Given the description of an element on the screen output the (x, y) to click on. 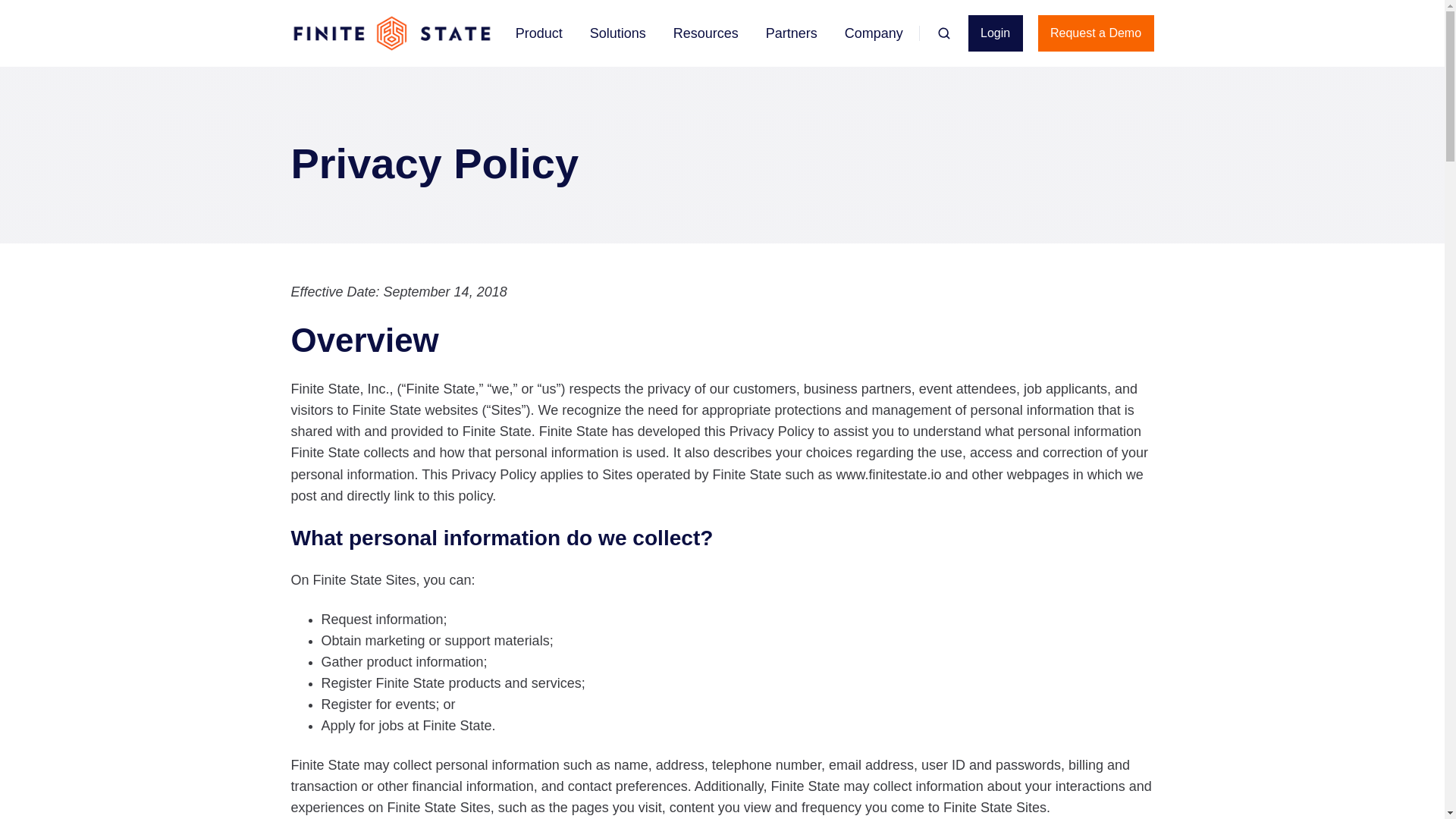
Company (873, 33)
Request a Demo (1096, 33)
Partners (790, 33)
Login (995, 33)
Solutions (617, 33)
FS-Logo-Final-03 (392, 33)
Resources (705, 33)
Product (538, 33)
